Given the description of an element on the screen output the (x, y) to click on. 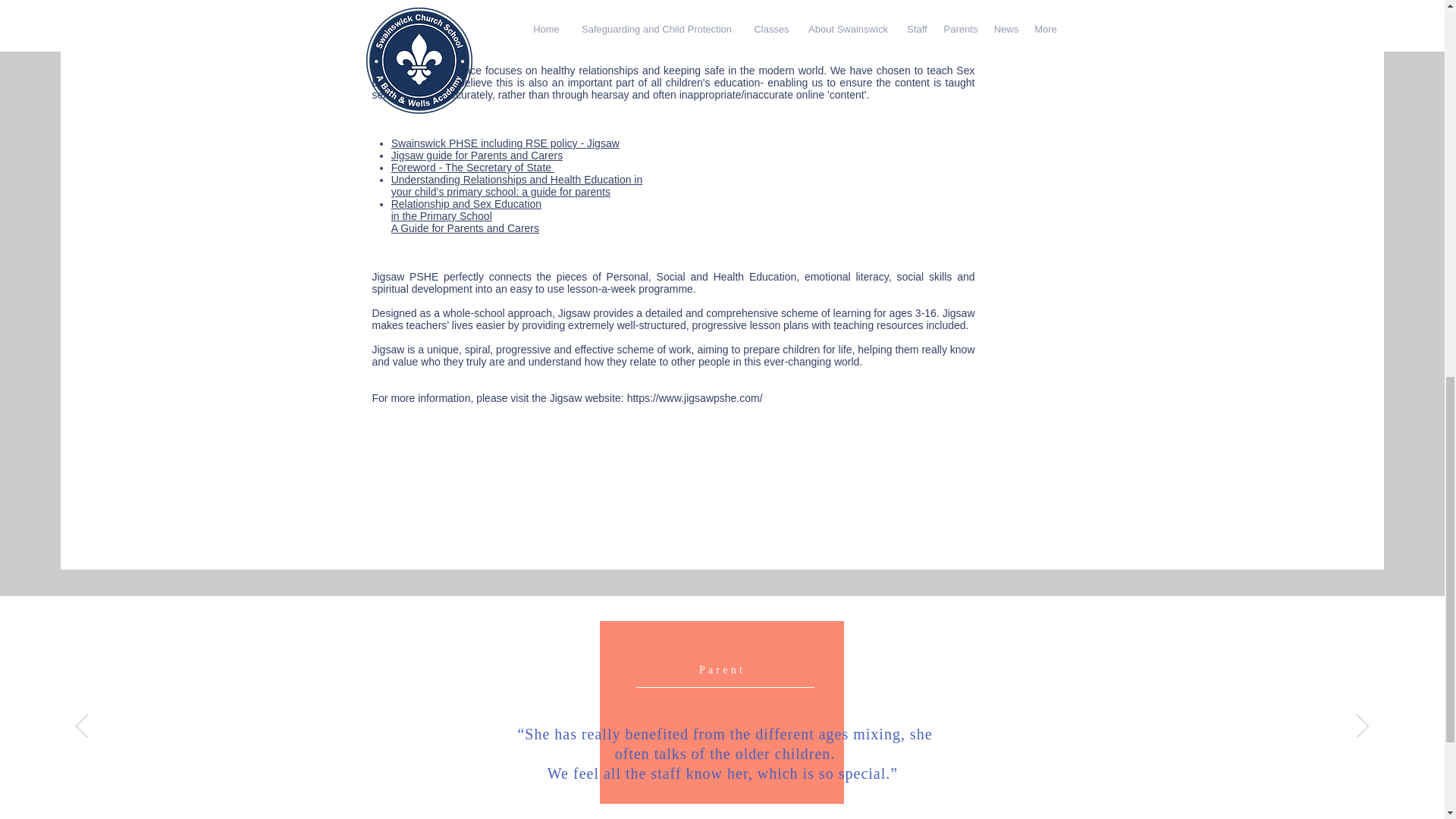
Swainswick PHSE including RSE policy - Jigsaw (505, 143)
Foreword - The Secretary of State  (472, 167)
Jigsaw guide for Parents and Carers (476, 155)
